Given the description of an element on the screen output the (x, y) to click on. 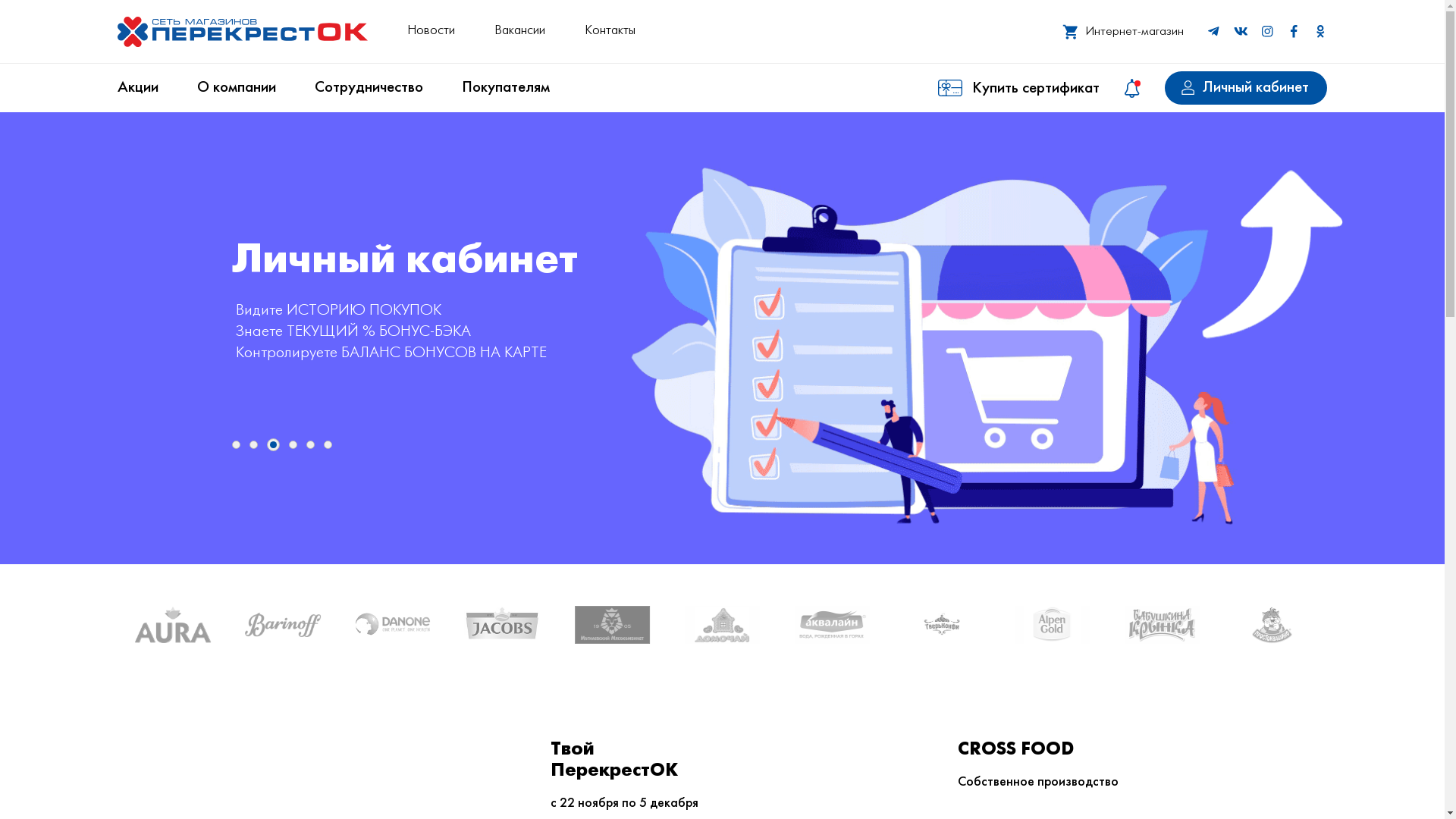
Facebook Element type: hover (1293, 31)
Instagram Element type: hover (1266, 31)
Telegram Element type: hover (1213, 31)
